Given the description of an element on the screen output the (x, y) to click on. 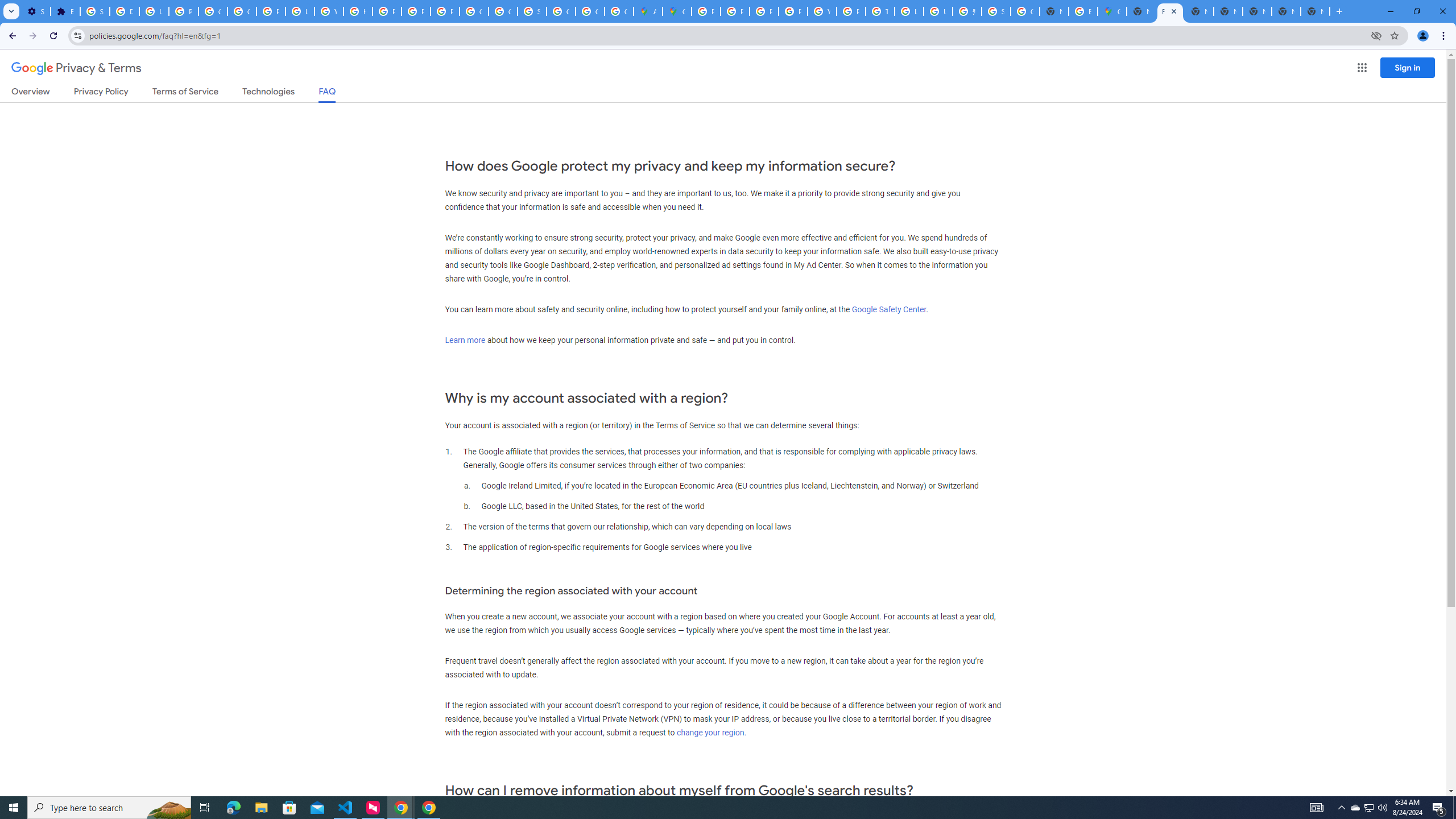
YouTube (821, 11)
Create your Google Account (619, 11)
Learn how to find your photos - Google Photos Help (153, 11)
Google Maps (677, 11)
